Given the description of an element on the screen output the (x, y) to click on. 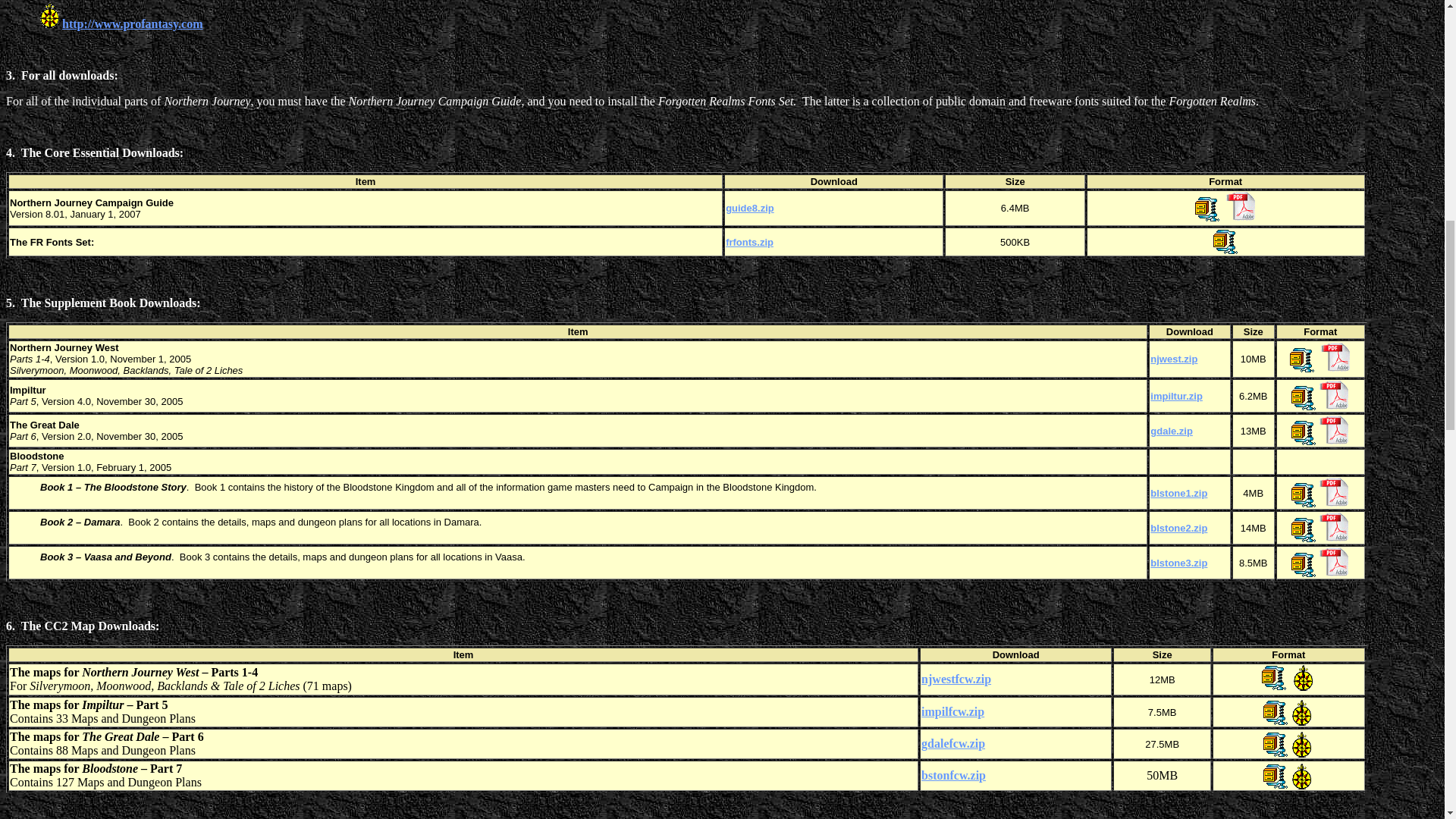
gdale.zip (1171, 430)
blstone2.zip (1178, 527)
gdalefcw.zip (953, 743)
blstone1.zip (1178, 491)
blstone3.zip (1178, 562)
frfonts.zip (749, 242)
impilfcw.zip (952, 711)
njwest.zip (1173, 358)
njwestfcw.zip (956, 678)
impiltur.zip (1176, 395)
guide8.zip (749, 207)
